Given the description of an element on the screen output the (x, y) to click on. 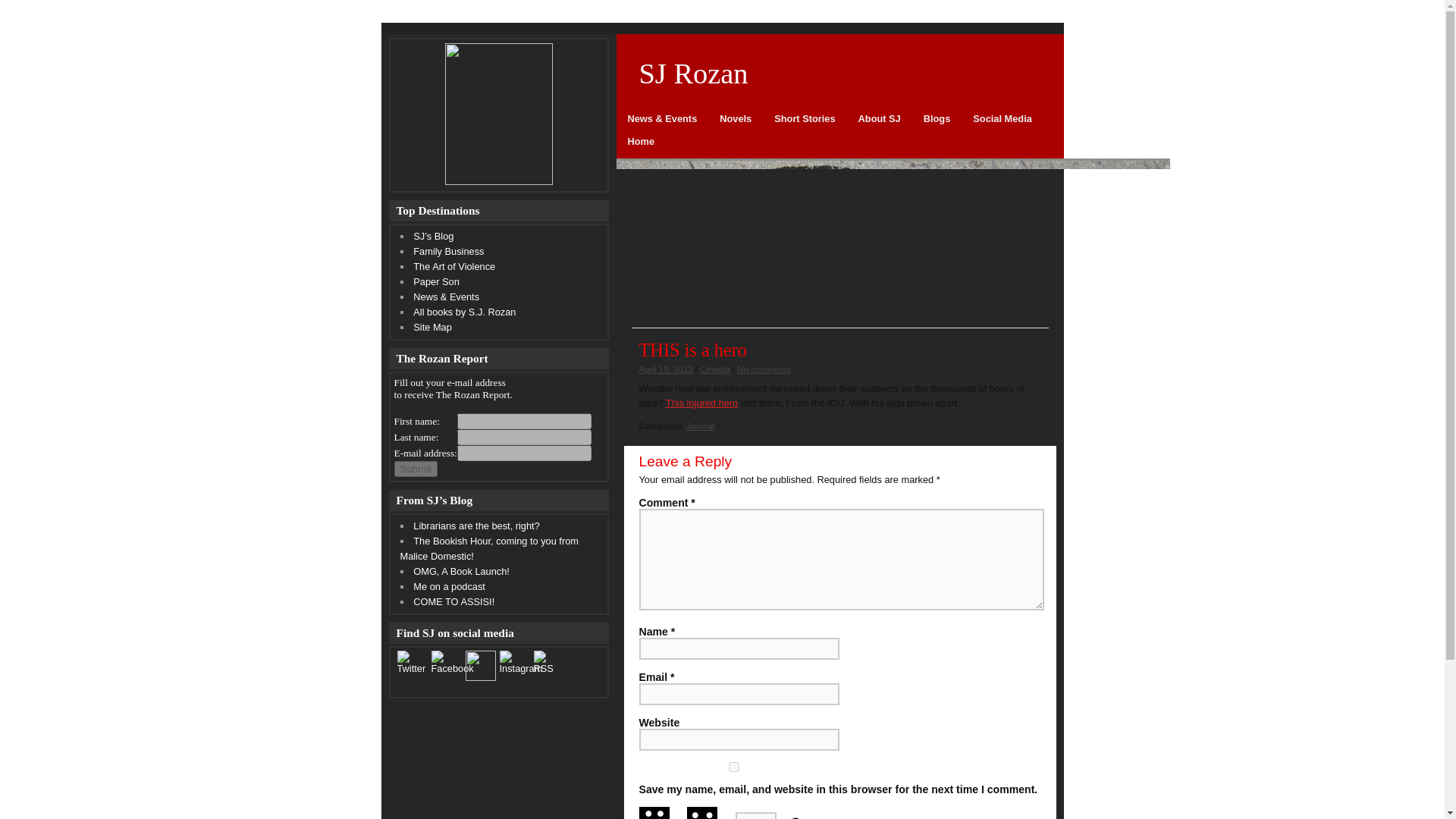
Submit (416, 468)
SJ Rozan (838, 73)
Novels (734, 124)
Twitter (413, 662)
Posts by Cmedia (715, 368)
yes (733, 767)
Facebook (451, 662)
Instagram (520, 662)
RSS (550, 662)
